Given the description of an element on the screen output the (x, y) to click on. 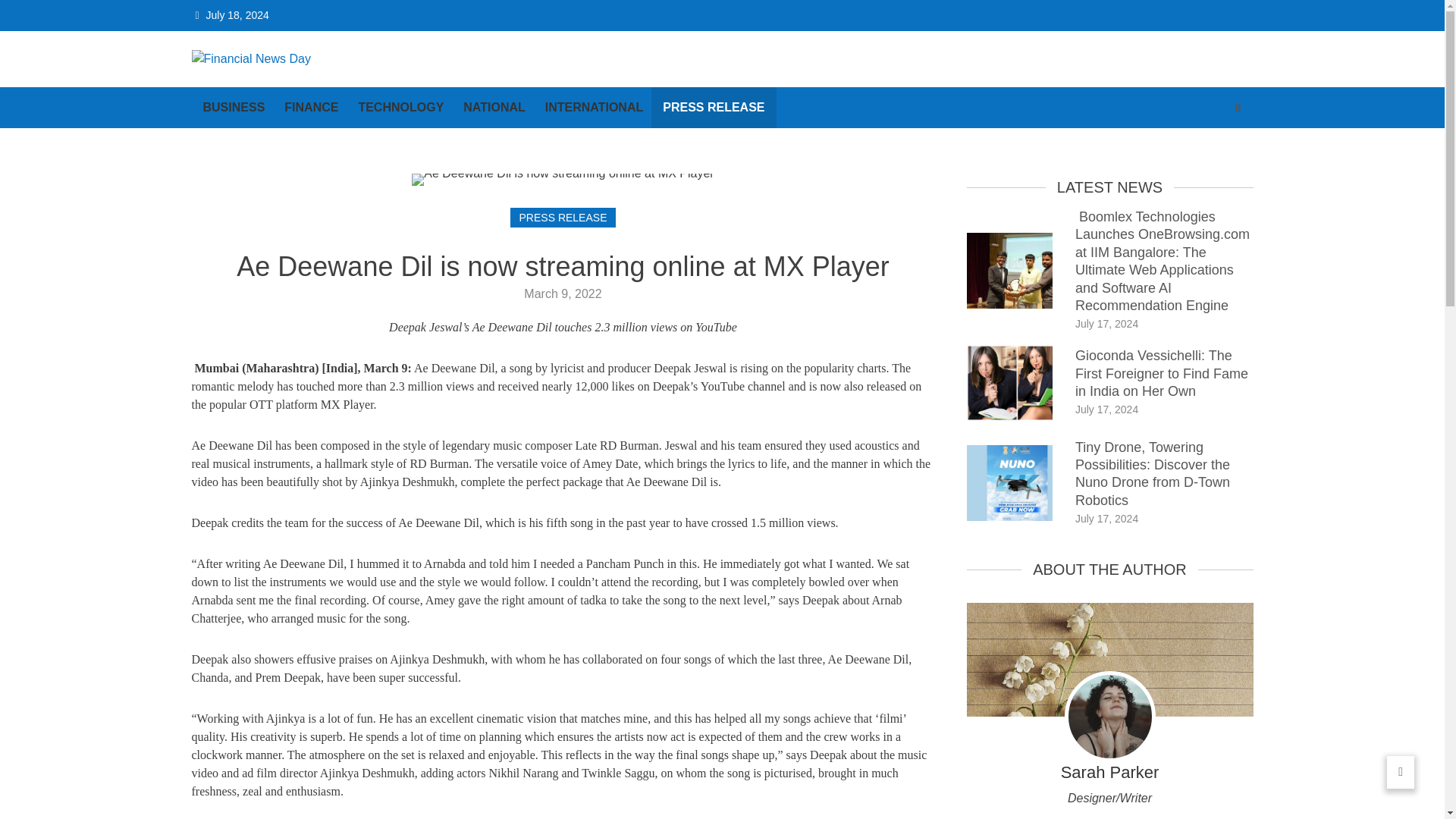
July 17, 2024 (1106, 518)
March 9, 2022 (562, 293)
Financial News Day (293, 83)
July 17, 2024 (1106, 323)
INTERNATIONAL (593, 106)
PRESS RELEASE (563, 217)
PRESS RELEASE (713, 106)
BUSINESS (233, 106)
TECHNOLOGY (400, 106)
NATIONAL (493, 106)
July 17, 2024 (1106, 409)
FINANCE (311, 106)
